Given the description of an element on the screen output the (x, y) to click on. 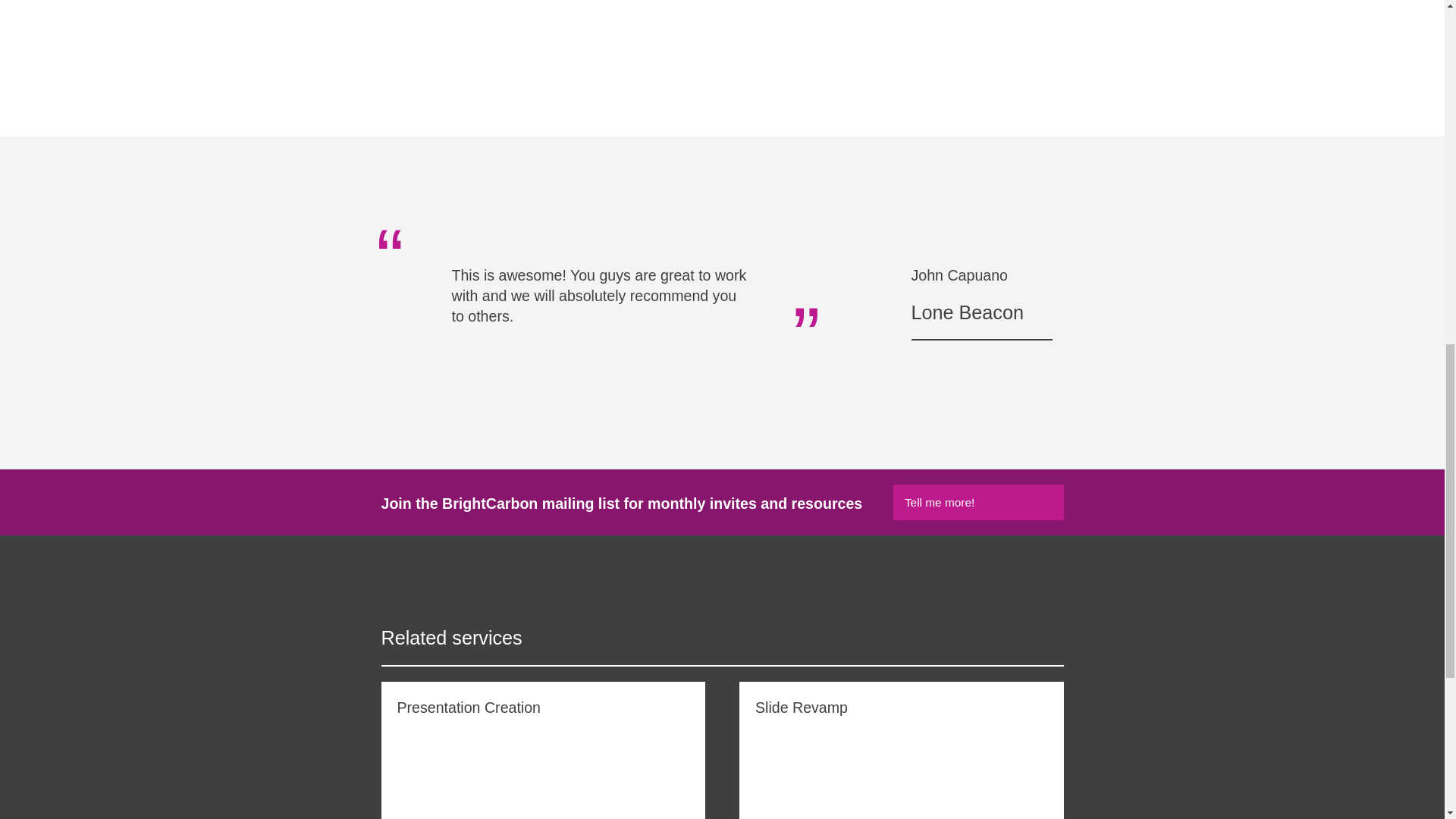
Americold - Overview Presentation (721, 22)
Tell me more! (978, 501)
Presentation Creation (542, 750)
Slide Revamp (901, 750)
